Given the description of an element on the screen output the (x, y) to click on. 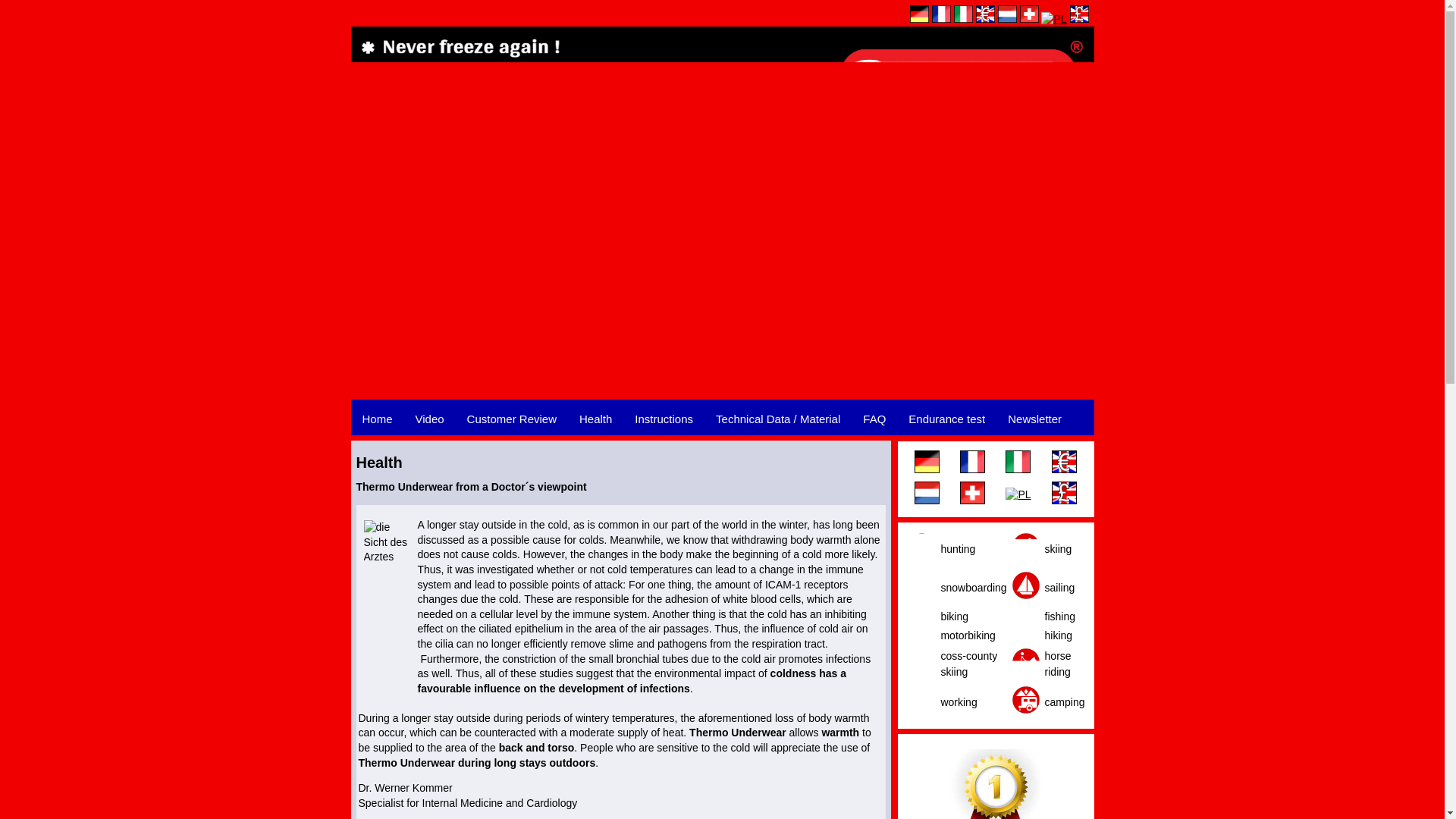
Endurance test (945, 418)
CH (972, 492)
Health (595, 418)
DE (926, 461)
DE (919, 13)
Instructions (663, 418)
FR (940, 13)
IT (962, 13)
NL (1006, 13)
CH (1029, 13)
NL (926, 492)
UK (1077, 13)
IT (1018, 461)
Home (376, 418)
PL (1018, 494)
